Given the description of an element on the screen output the (x, y) to click on. 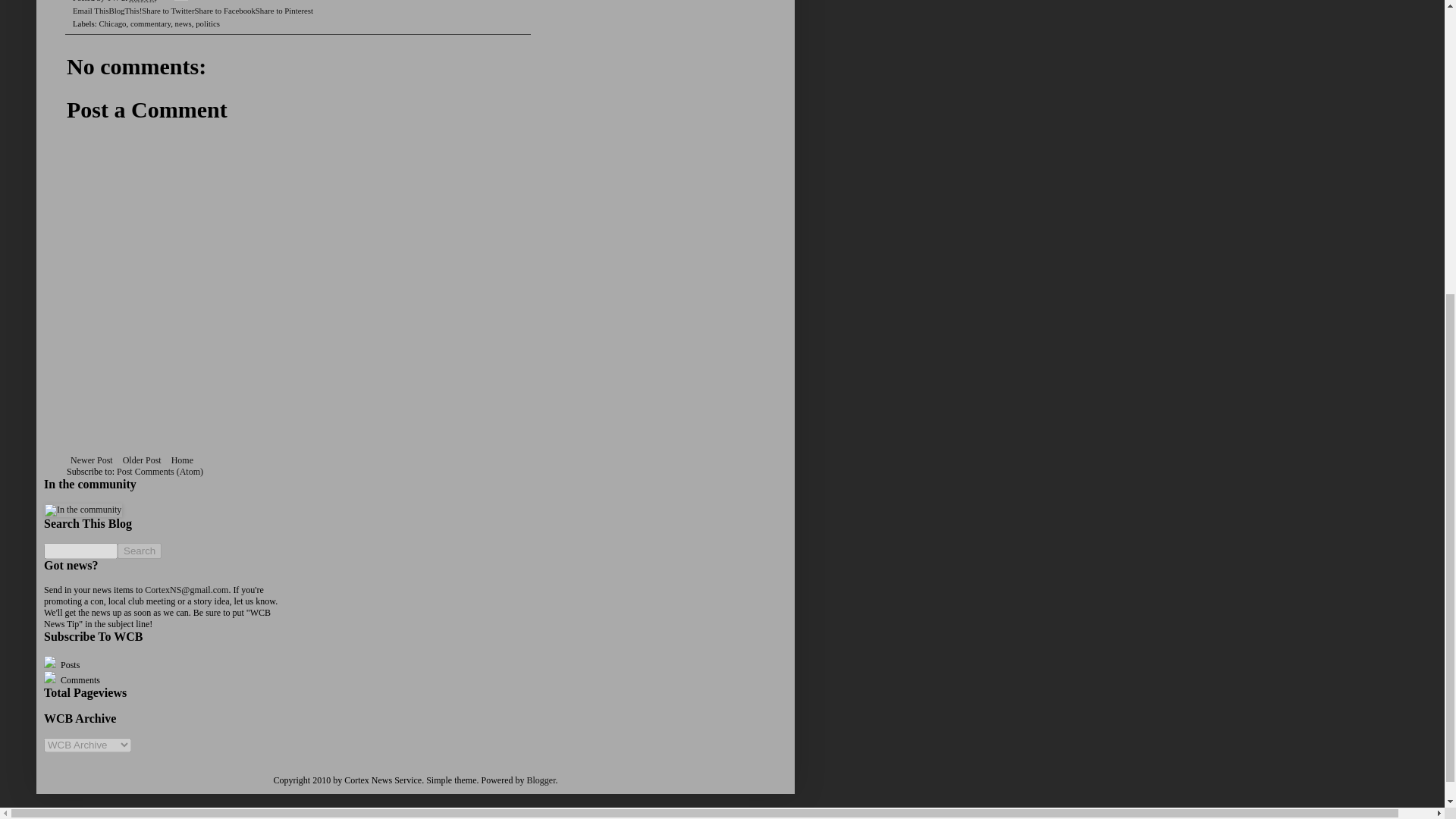
Share to Twitter (167, 10)
author profile (113, 1)
search (80, 550)
Email This (89, 10)
Newer Post (91, 460)
Share to Pinterest (284, 10)
politics (207, 22)
Share to Twitter (167, 10)
Search (139, 550)
BlogThis! (124, 10)
Email This (89, 10)
Blogger (539, 779)
Email Post (166, 1)
BlogThis! (124, 10)
Newer Post (91, 460)
